Given the description of an element on the screen output the (x, y) to click on. 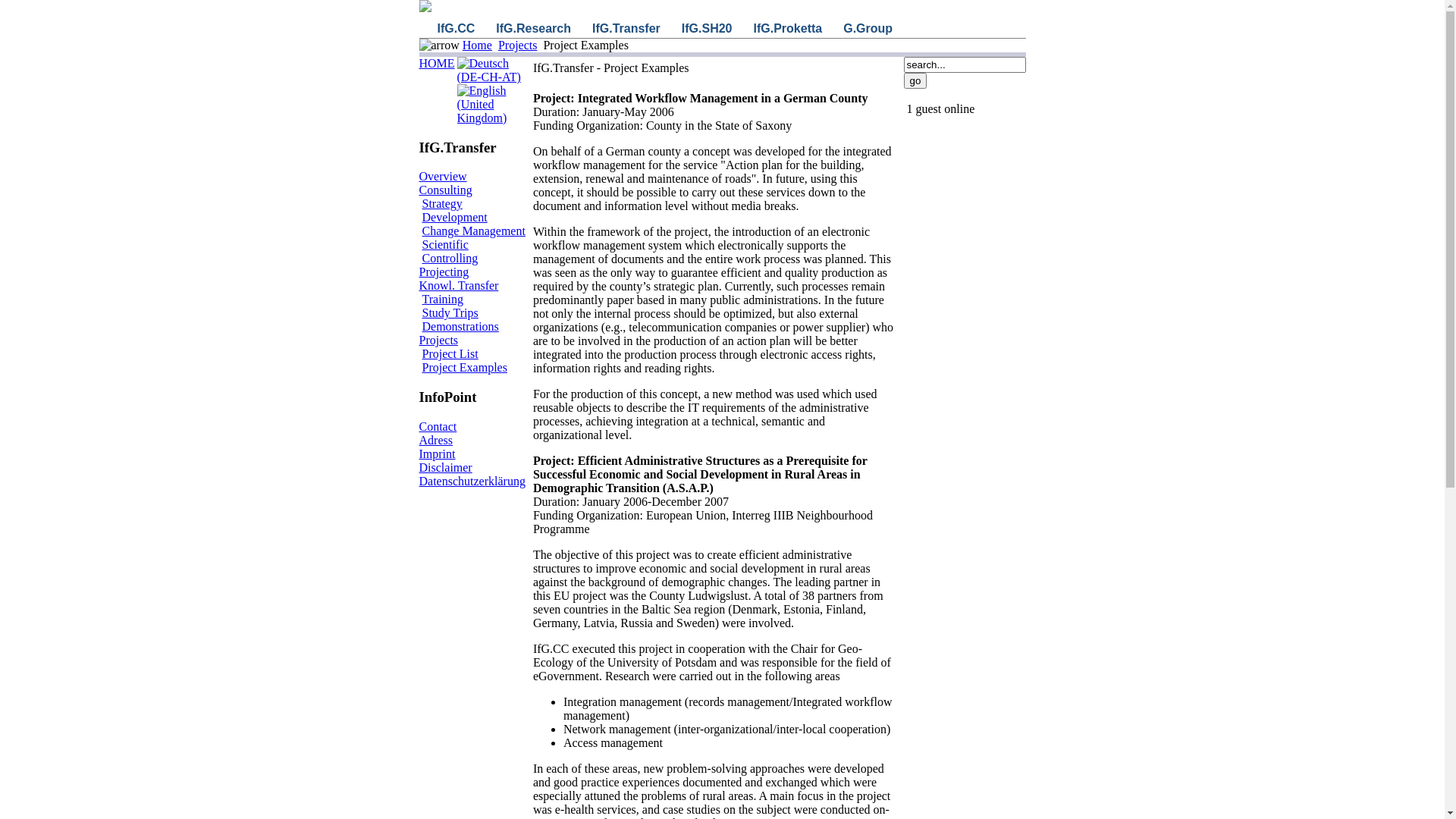
IfG.SH20 Element type: text (707, 28)
G.Group Element type: text (867, 28)
IfG.Research Element type: text (533, 28)
IfG.Transfer Element type: text (626, 28)
Study Trips Element type: text (449, 312)
Projecting Element type: text (443, 271)
Overview Element type: text (442, 175)
Adress Element type: text (434, 439)
Imprint Element type: text (436, 453)
English (United Kingdom) Element type: hover (490, 104)
Disclaimer Element type: text (444, 467)
Project Examples Element type: text (463, 366)
Project List Element type: text (449, 353)
Contact Element type: text (437, 426)
Strategy Development Element type: text (453, 210)
Consulting Element type: text (444, 189)
HOME Element type: text (436, 62)
Home Element type: text (477, 44)
go Element type: text (915, 80)
Training Element type: text (442, 298)
Projects Element type: text (438, 339)
IfG.CC Element type: text (455, 28)
Knowl. Transfer Element type: text (458, 285)
Deutsch (DE-CH-AT) Element type: hover (490, 70)
Scientific Controlling Element type: text (449, 251)
Change Management Element type: text (472, 230)
Projects Element type: text (517, 44)
IfG.Proketta Element type: text (788, 28)
Demonstrations Element type: text (459, 326)
